Given the description of an element on the screen output the (x, y) to click on. 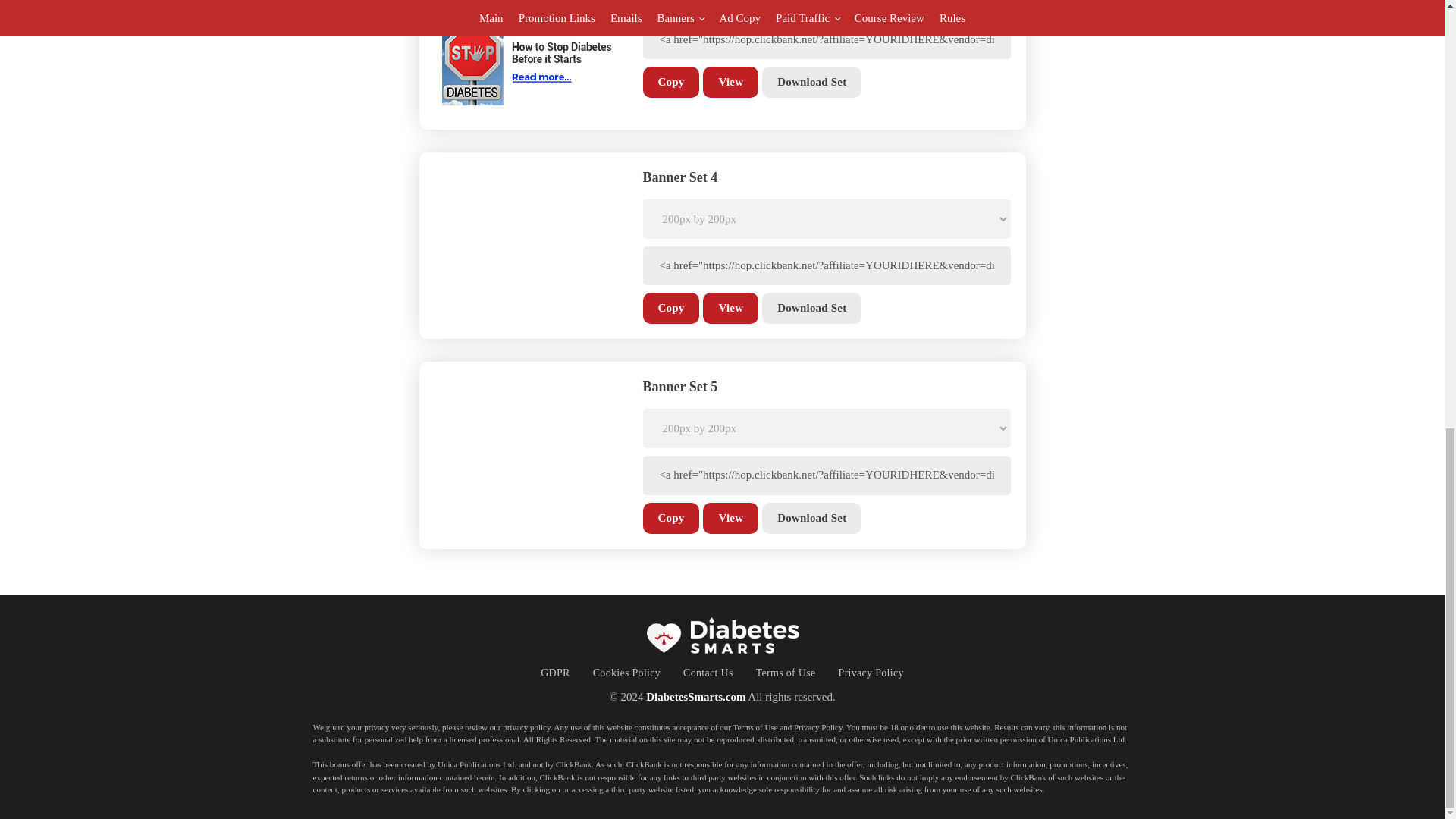
GDPR (554, 672)
Cookies Policy (625, 672)
Download Set (811, 517)
View (730, 307)
Download Set (811, 307)
View (730, 517)
Download Set (811, 81)
Terms of Use (785, 672)
Contact Us (707, 672)
Copy (671, 307)
Privacy Policy (871, 672)
Copy (671, 517)
View (730, 81)
Copy (671, 81)
